Given the description of an element on the screen output the (x, y) to click on. 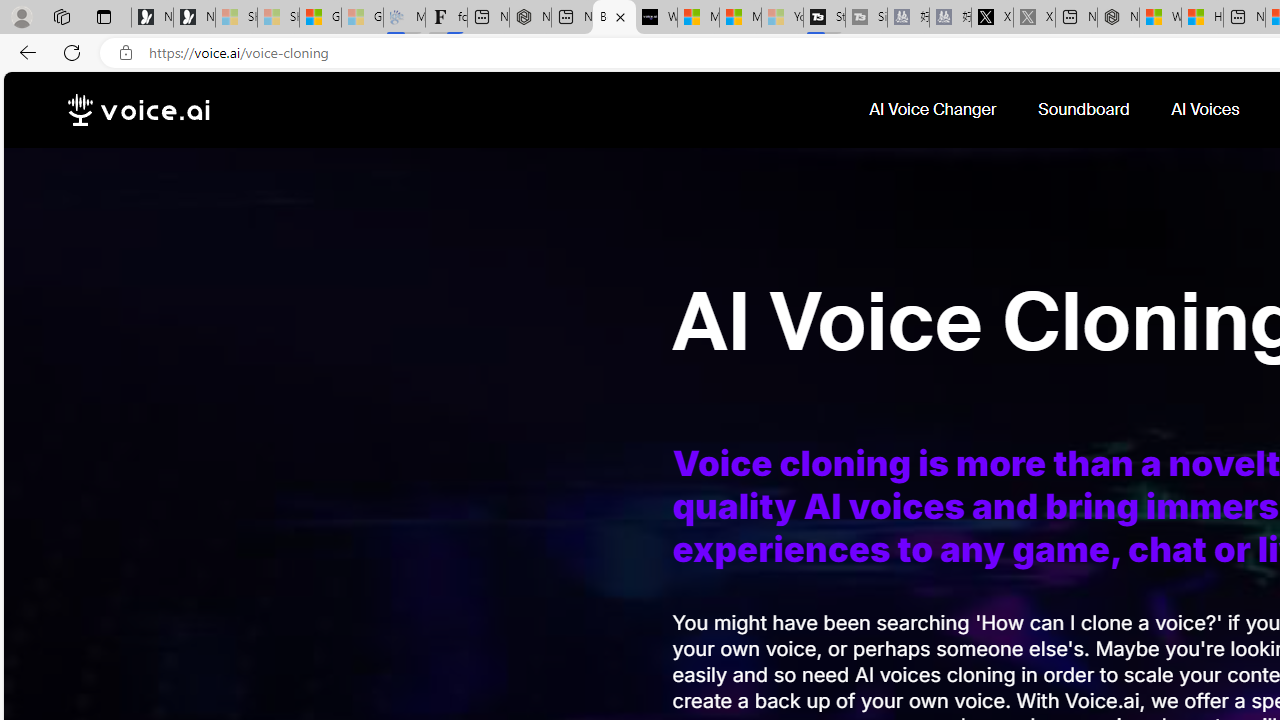
AI Voice Changer  (934, 109)
Best AI Voice Cloning Software For Free - Voice.AI (613, 17)
voice.ai (138, 109)
Newsletter Sign Up (194, 17)
Nordace - My Account (1118, 17)
Huge shark washes ashore at New York City beach | Watch (1201, 17)
AI Voices  (1207, 109)
